Given the description of an element on the screen output the (x, y) to click on. 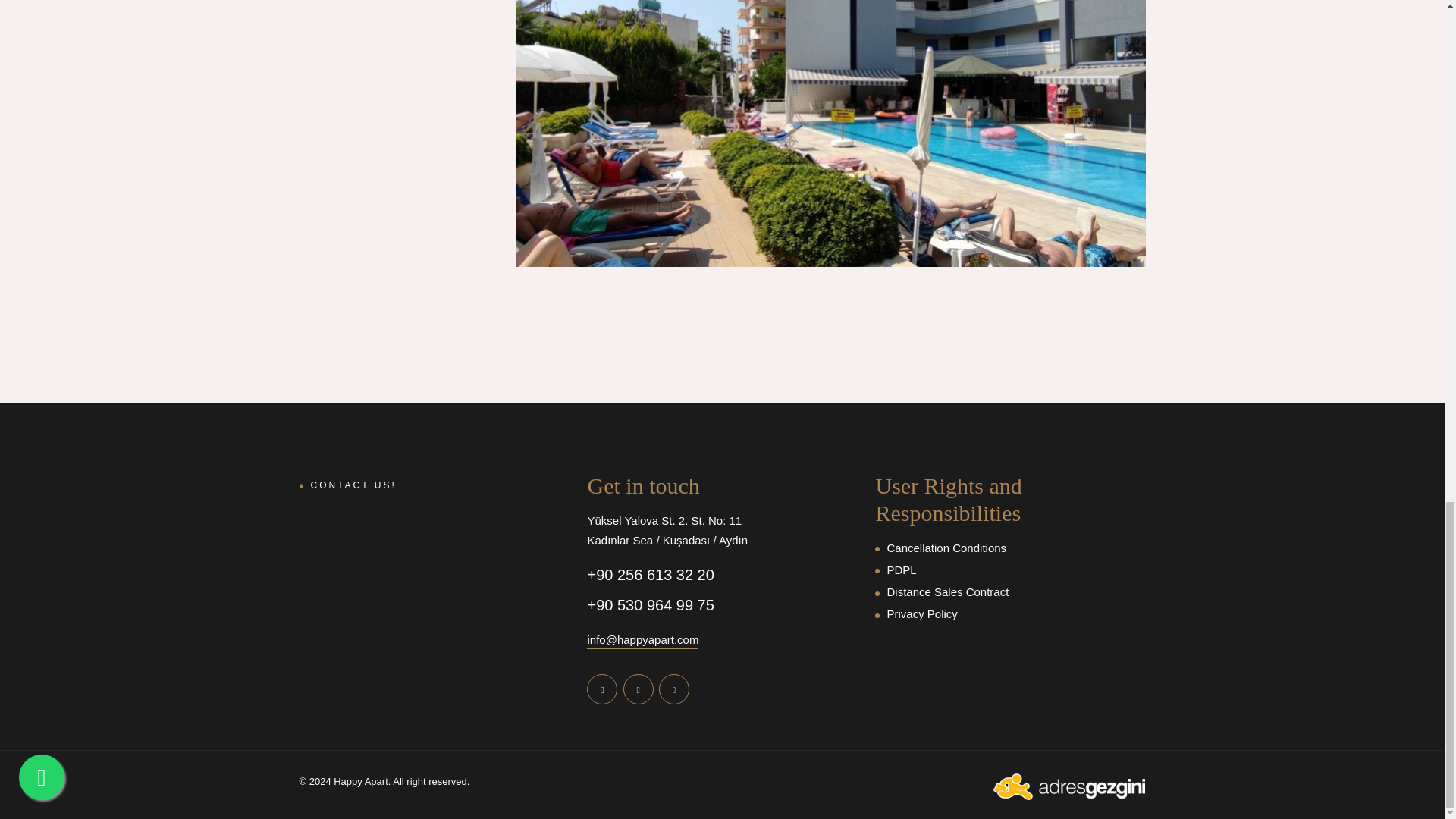
PDPL (1009, 569)
Distance Sales Contract (1009, 591)
Cancellation Conditions (1009, 547)
Privacy Policy (1009, 614)
